Given the description of an element on the screen output the (x, y) to click on. 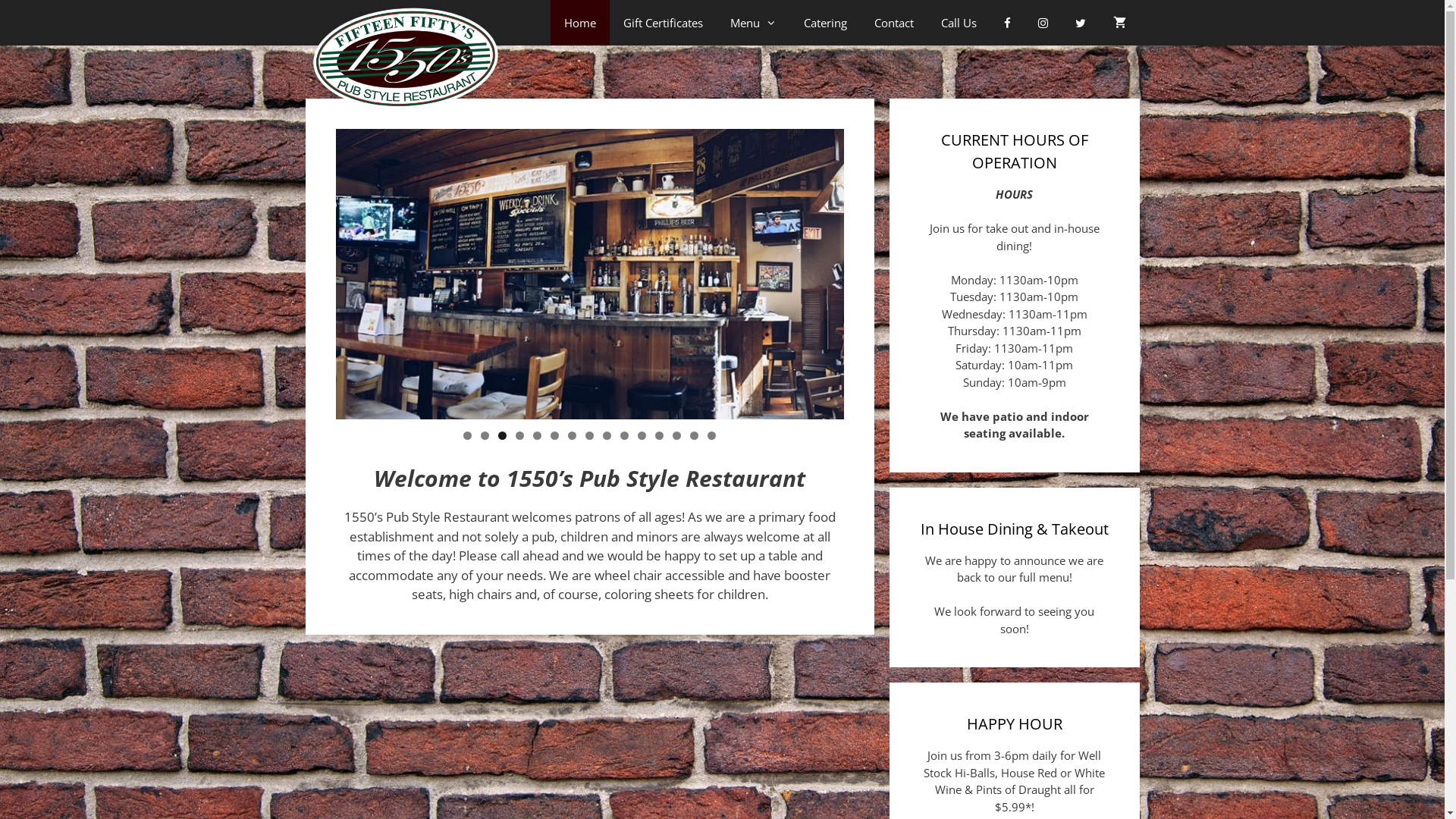
15 Element type: text (711, 435)
Contact Element type: text (892, 22)
2 Element type: text (484, 435)
13 Element type: text (676, 435)
Home Element type: text (579, 22)
11 Element type: text (641, 435)
9 Element type: text (606, 435)
4 Element type: text (519, 435)
8 Element type: text (589, 435)
View your shopping cart Element type: hover (1119, 22)
10 Element type: text (624, 435)
7 Element type: text (571, 435)
Gift Certificates Element type: text (662, 22)
1 Element type: text (467, 435)
Menu Element type: text (752, 22)
Catering Element type: text (825, 22)
12 Element type: text (659, 435)
6 Element type: text (554, 435)
5 Element type: text (537, 435)
14 Element type: text (694, 435)
3 Element type: text (502, 435)
Call Us Element type: text (957, 22)
